Given the description of an element on the screen output the (x, y) to click on. 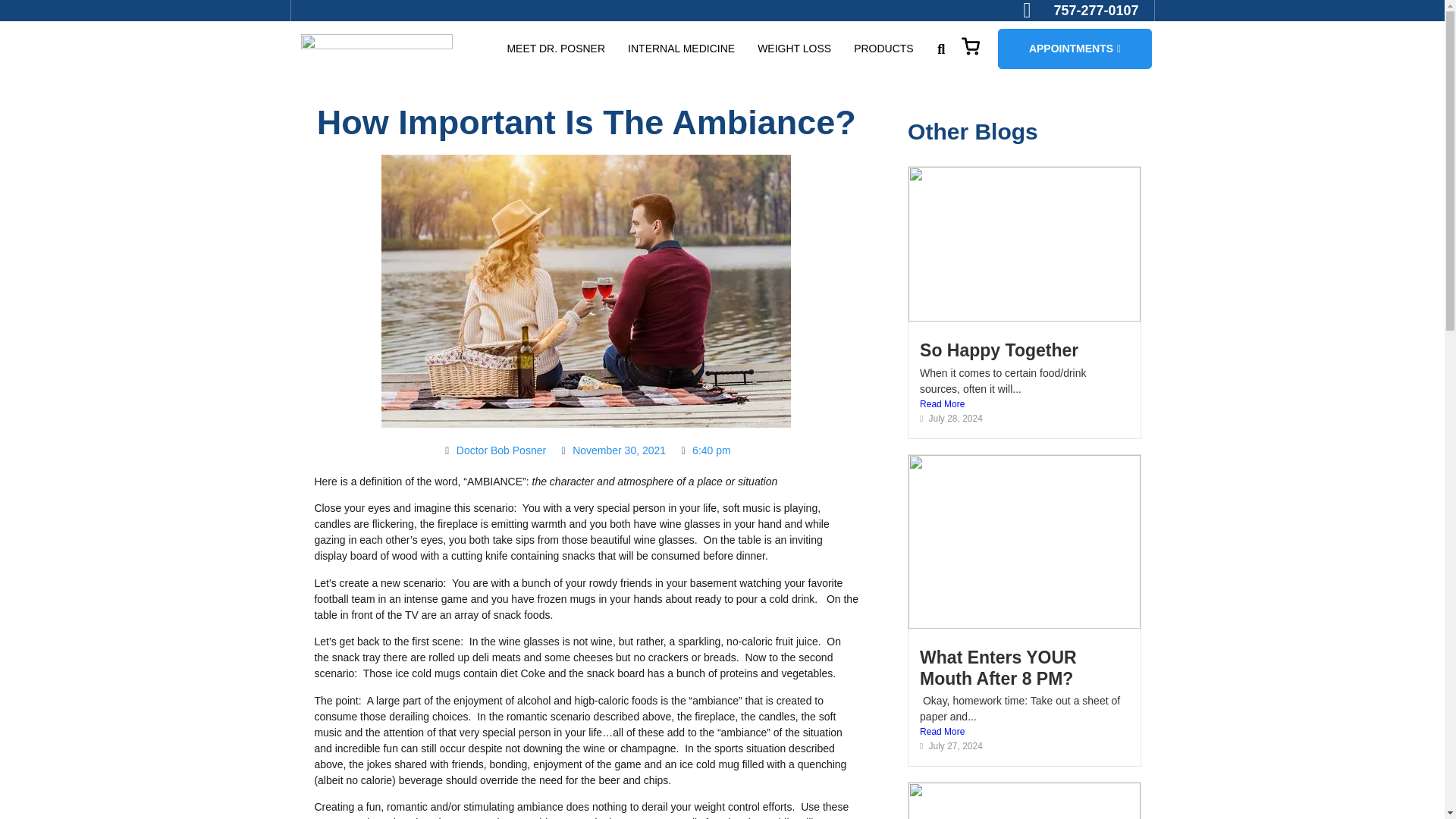
What Enters YOUR Mouth After 8 PM? (998, 667)
APPOINTMENTS (1074, 48)
WEIGHT LOSS (794, 48)
PRODUCTS (883, 48)
MEET DR. POSNER (555, 48)
So Happy Together (999, 350)
757-277-0107 (1080, 10)
INTERNAL MEDICINE (681, 48)
